Given the description of an element on the screen output the (x, y) to click on. 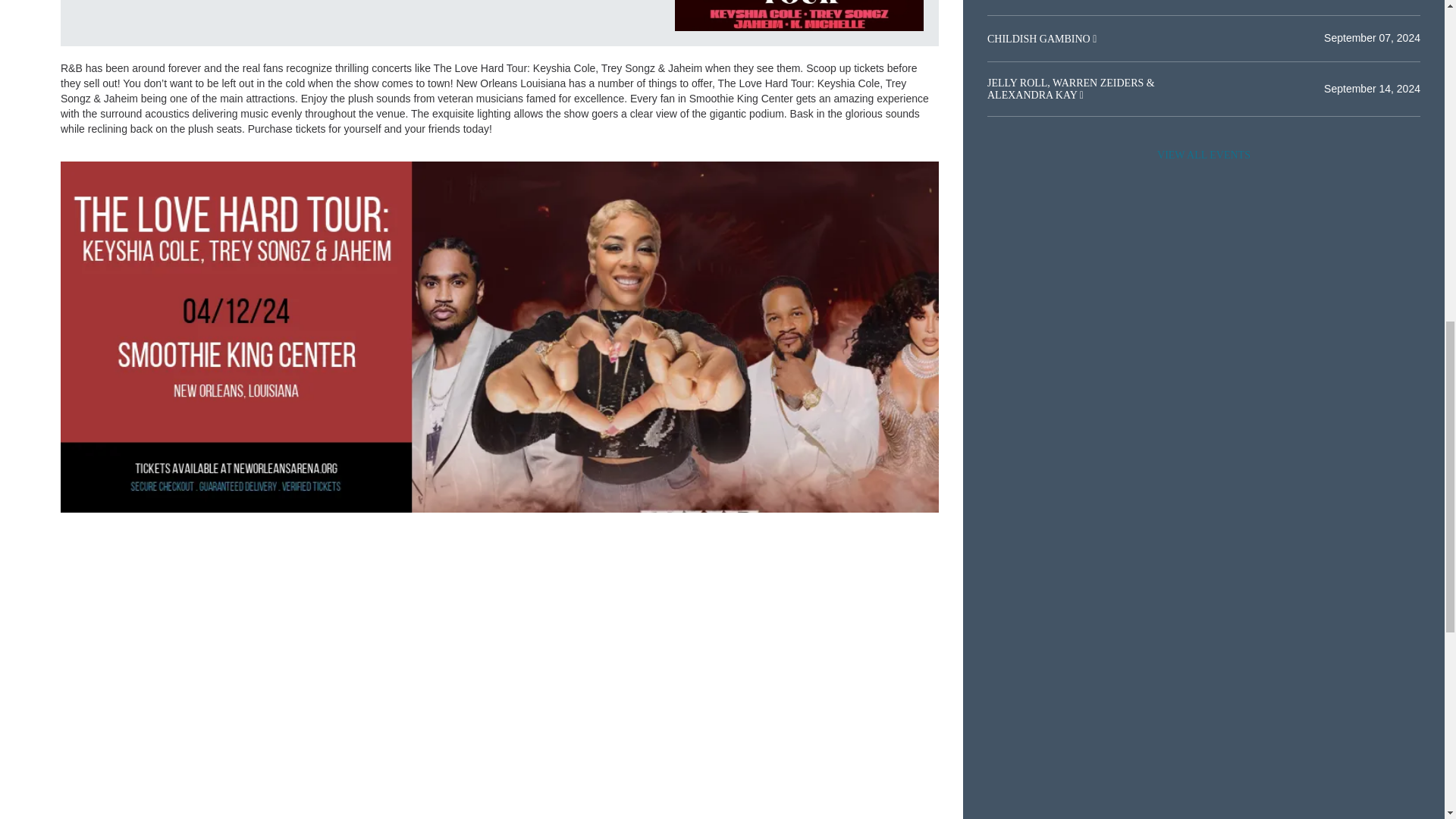
CHILDISH GAMBINO (1040, 39)
VIEW ALL EVENTS (1203, 154)
